Given the description of an element on the screen output the (x, y) to click on. 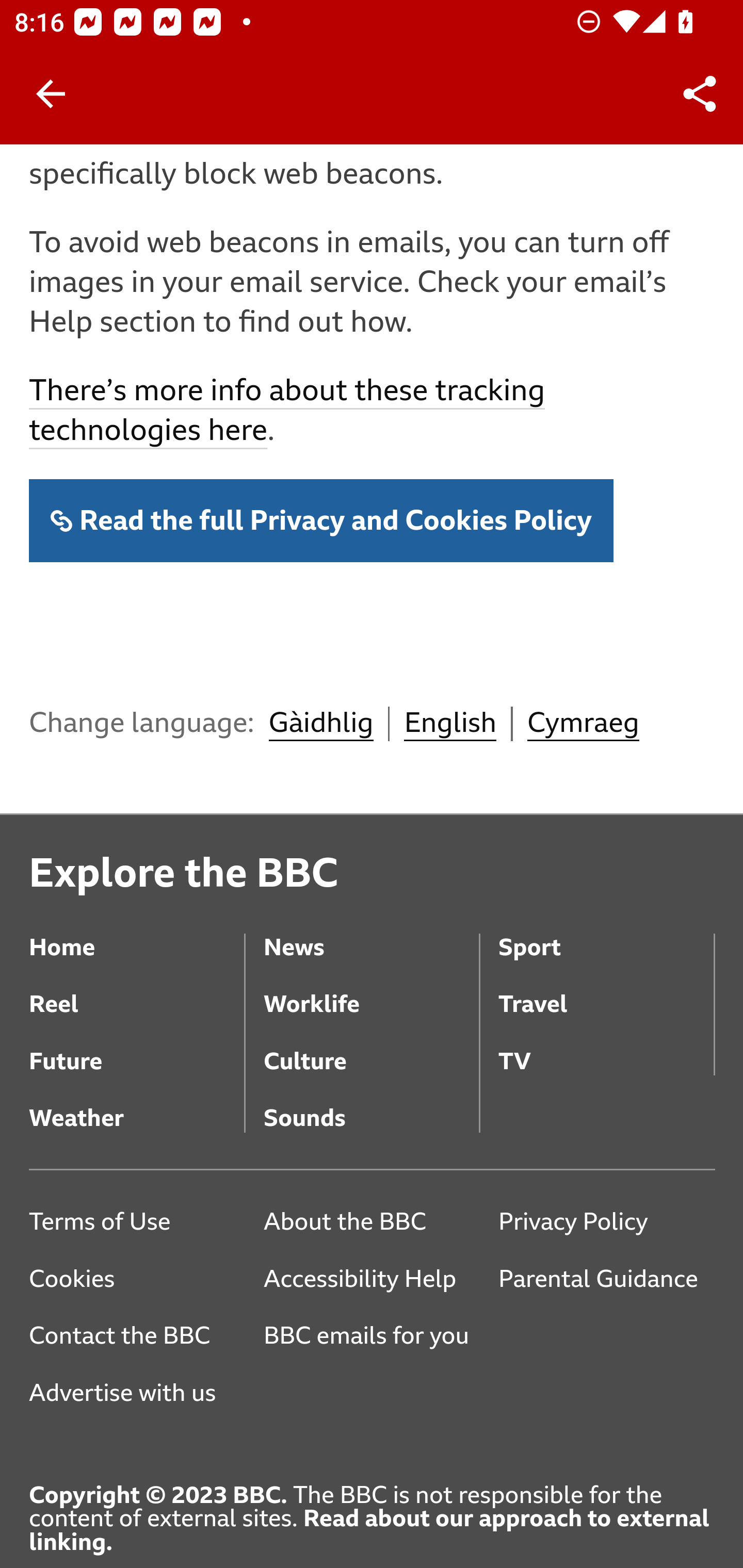
Back (50, 93)
Share (699, 93)
Read the full Privacy and Cookies Policy (320, 521)
Gàidhlig (320, 725)
English (450, 725)
Cymraeg (582, 725)
Home (136, 934)
News (370, 934)
Sport (606, 934)
Reel (136, 991)
Worklife (370, 991)
Travel (606, 991)
Future (136, 1048)
Culture (370, 1048)
TV (606, 1048)
Weather (136, 1105)
Sounds (370, 1105)
Terms of Use (136, 1223)
About the BBC (370, 1223)
Privacy Policy (606, 1223)
Cookies (136, 1280)
Accessibility Help (370, 1280)
Parental Guidance (606, 1280)
Contact the BBC (136, 1338)
BBC emails for you (372, 1338)
Advertise with us (136, 1395)
Read about our approach to external linking. (368, 1531)
